Given the description of an element on the screen output the (x, y) to click on. 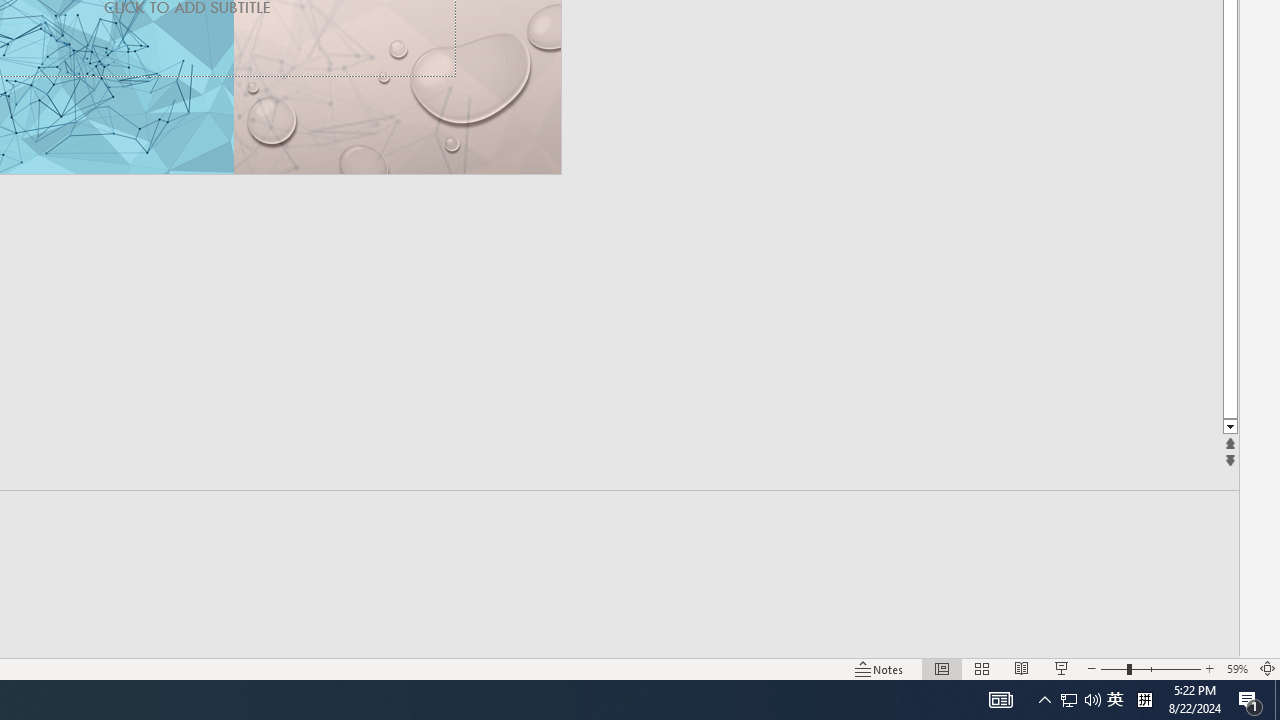
Zoom 59% (1236, 668)
